Given the description of an element on the screen output the (x, y) to click on. 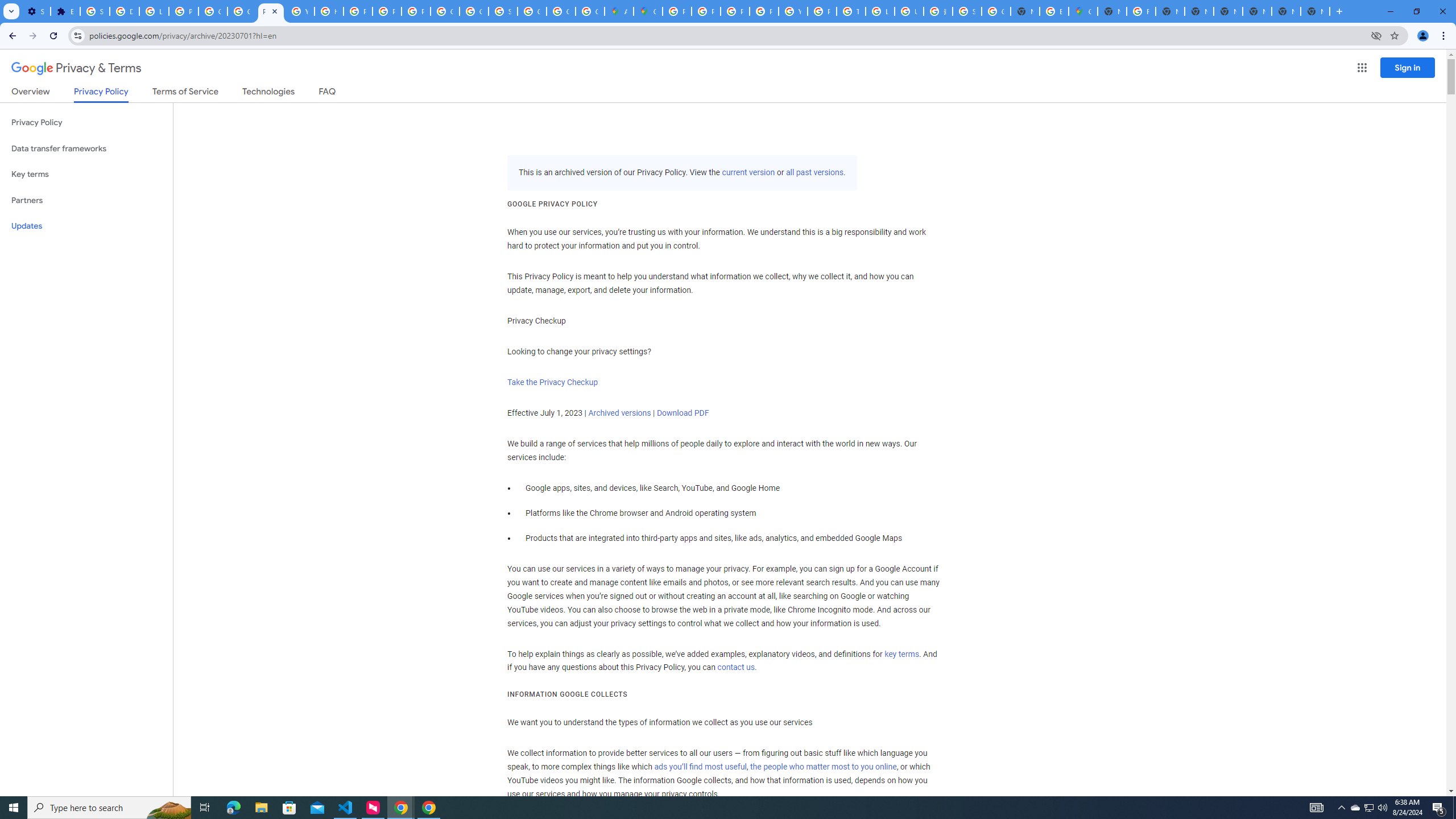
Download PDF (682, 412)
contact us (735, 667)
Tips & tricks for Chrome - Google Chrome Help (850, 11)
Sign in - Google Accounts (95, 11)
New Tab (1286, 11)
YouTube (792, 11)
